Given the description of an element on the screen output the (x, y) to click on. 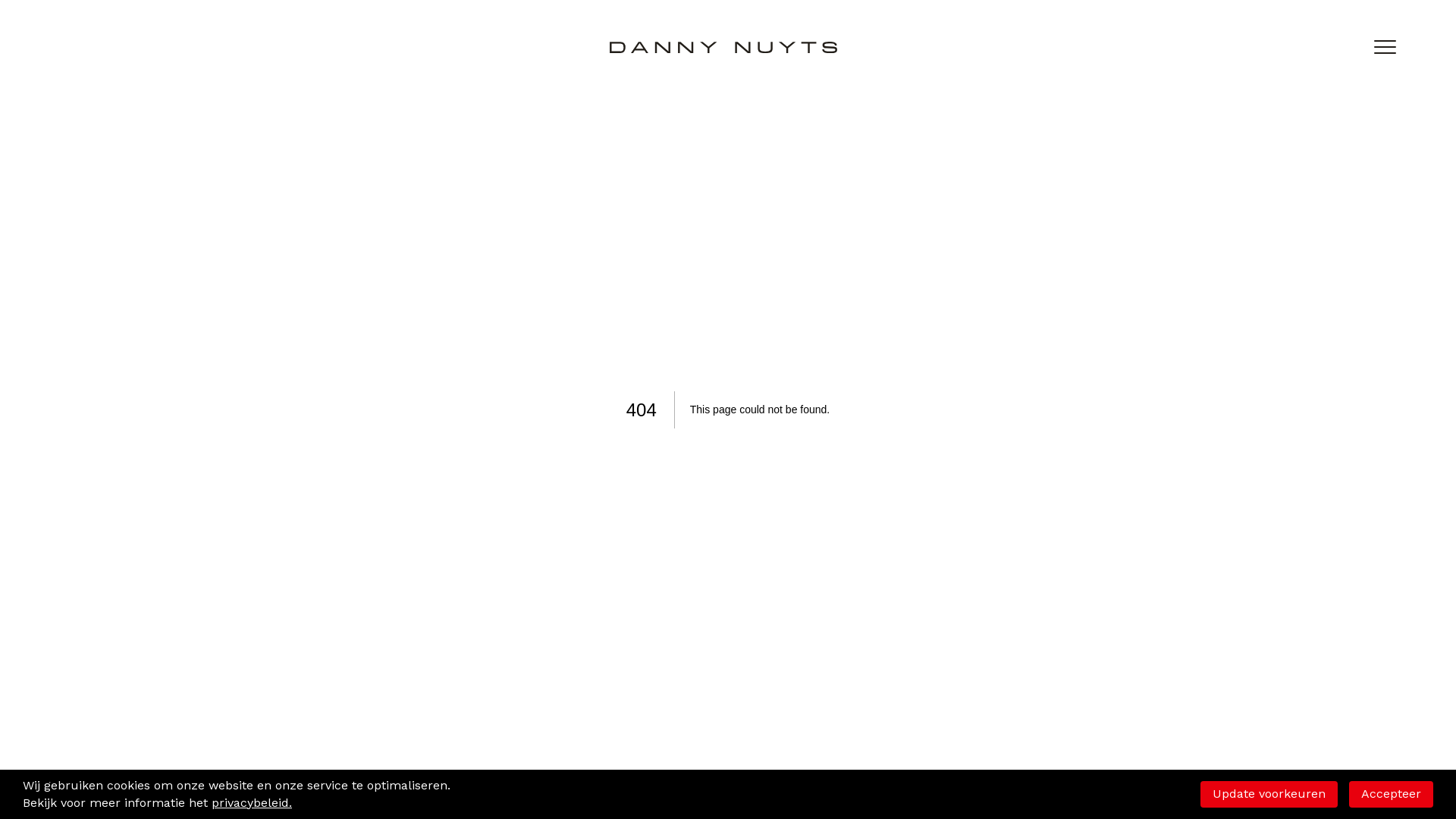
Accepteer Element type: text (1391, 793)
privacybeleid. Element type: text (251, 802)
Update voorkeuren Element type: text (1268, 793)
